Given the description of an element on the screen output the (x, y) to click on. 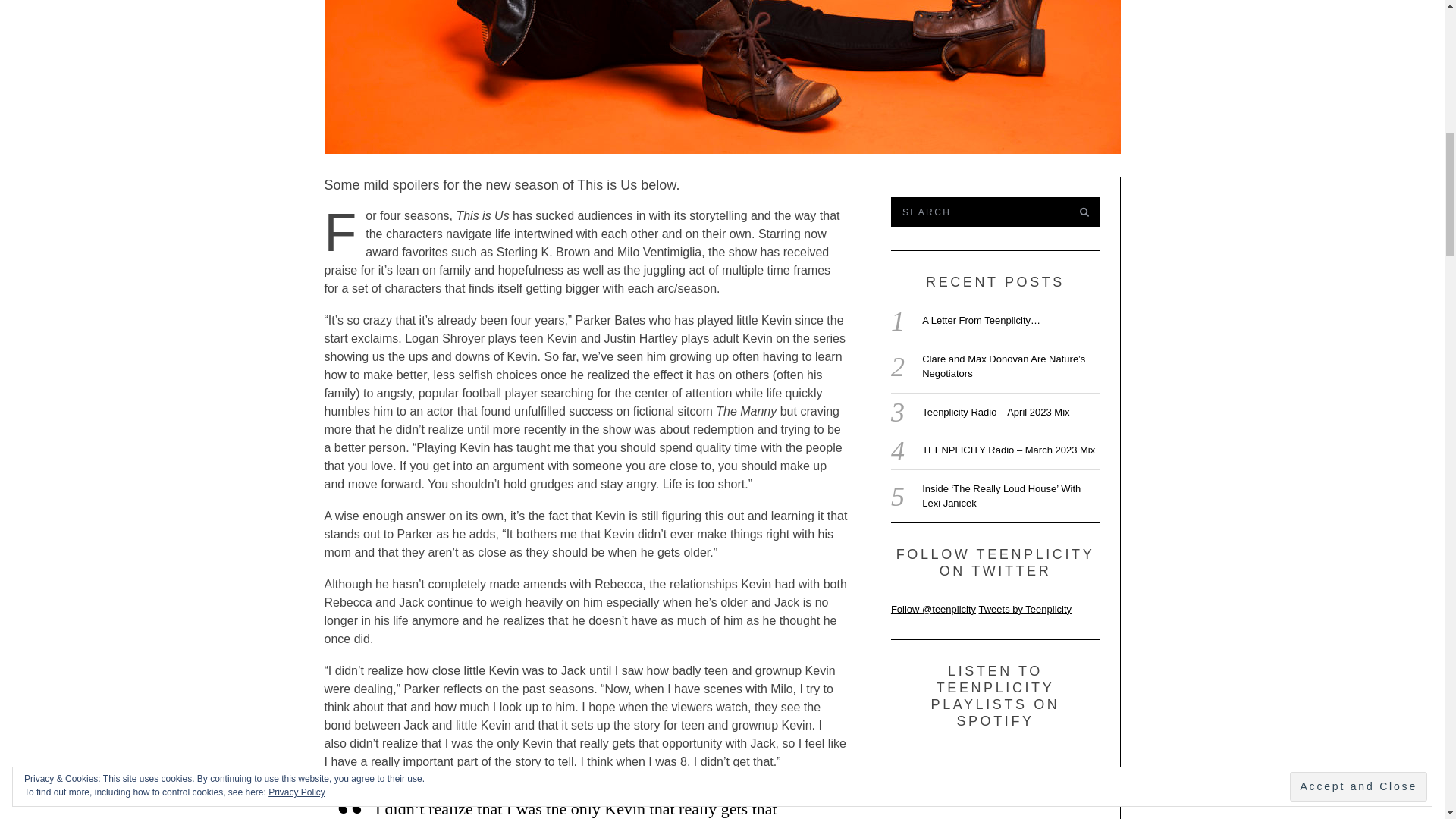
Search (976, 212)
